Given the description of an element on the screen output the (x, y) to click on. 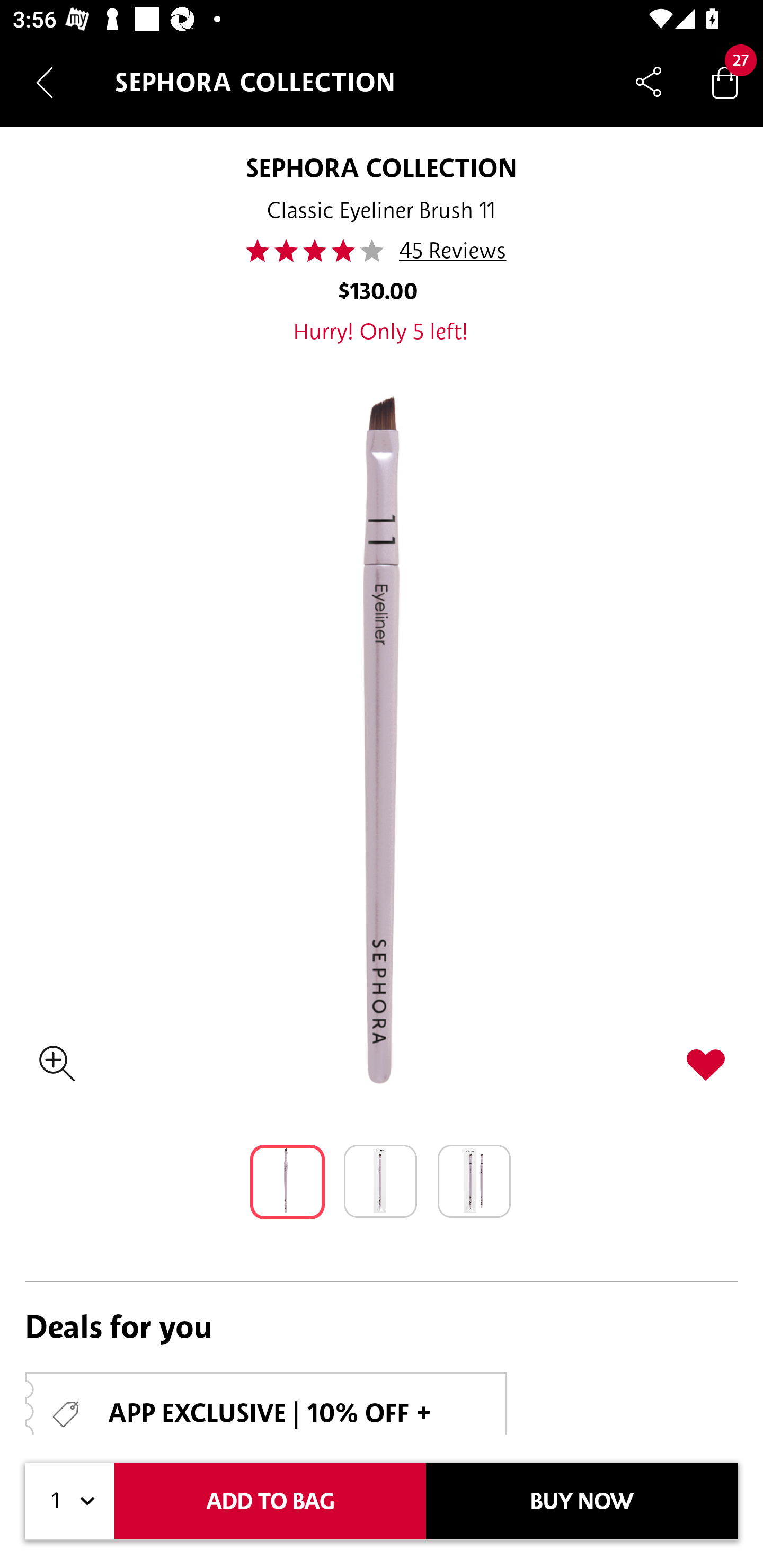
Navigate up (44, 82)
Share (648, 81)
Bag (724, 81)
SEPHORA COLLECTION (380, 167)
41.0 45 Reviews (381, 250)
1 (69, 1500)
ADD TO BAG (269, 1500)
BUY NOW (581, 1500)
